Given the description of an element on the screen output the (x, y) to click on. 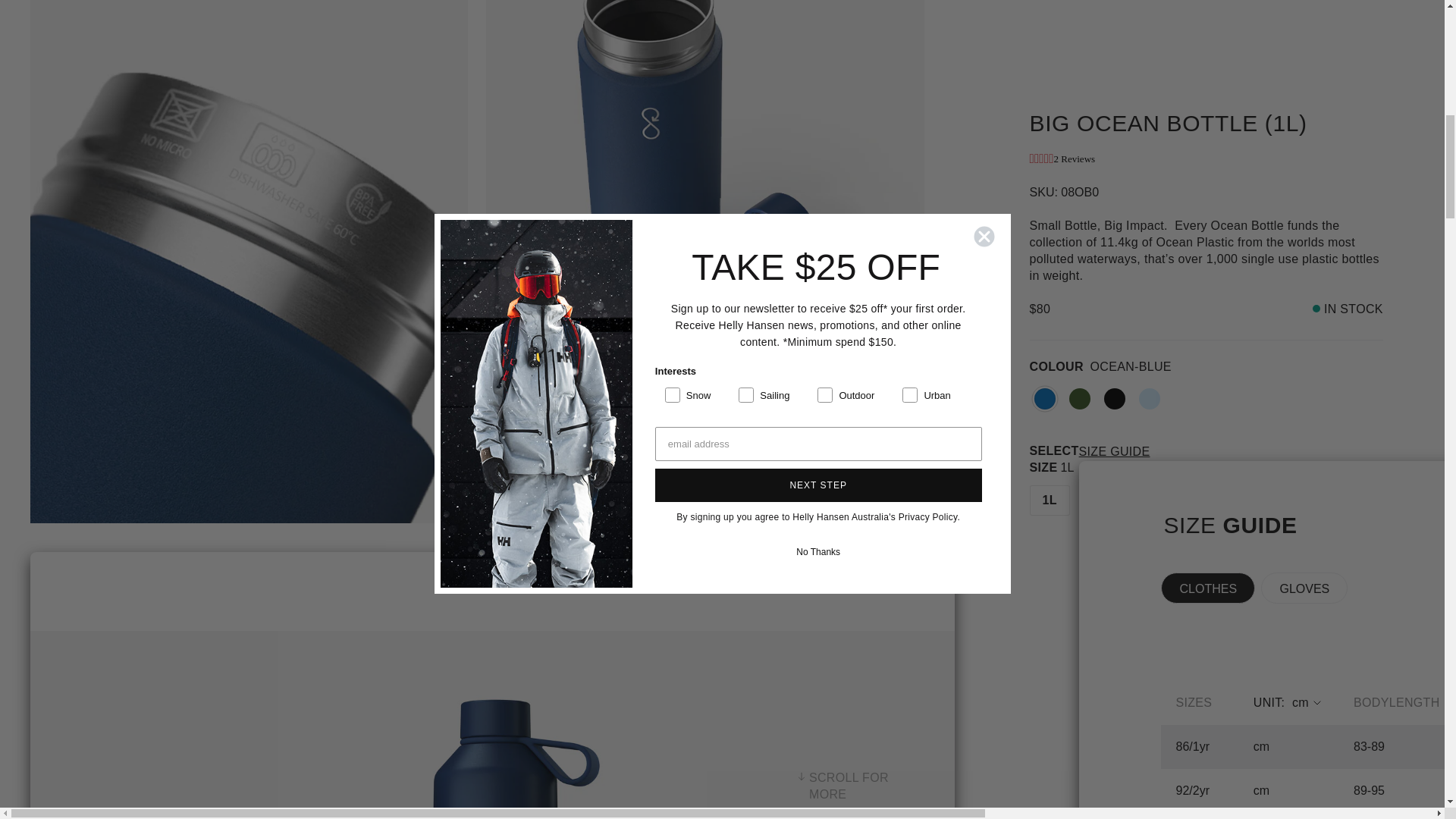
SCROLL FOR MORE (866, 598)
